Given the description of an element on the screen output the (x, y) to click on. 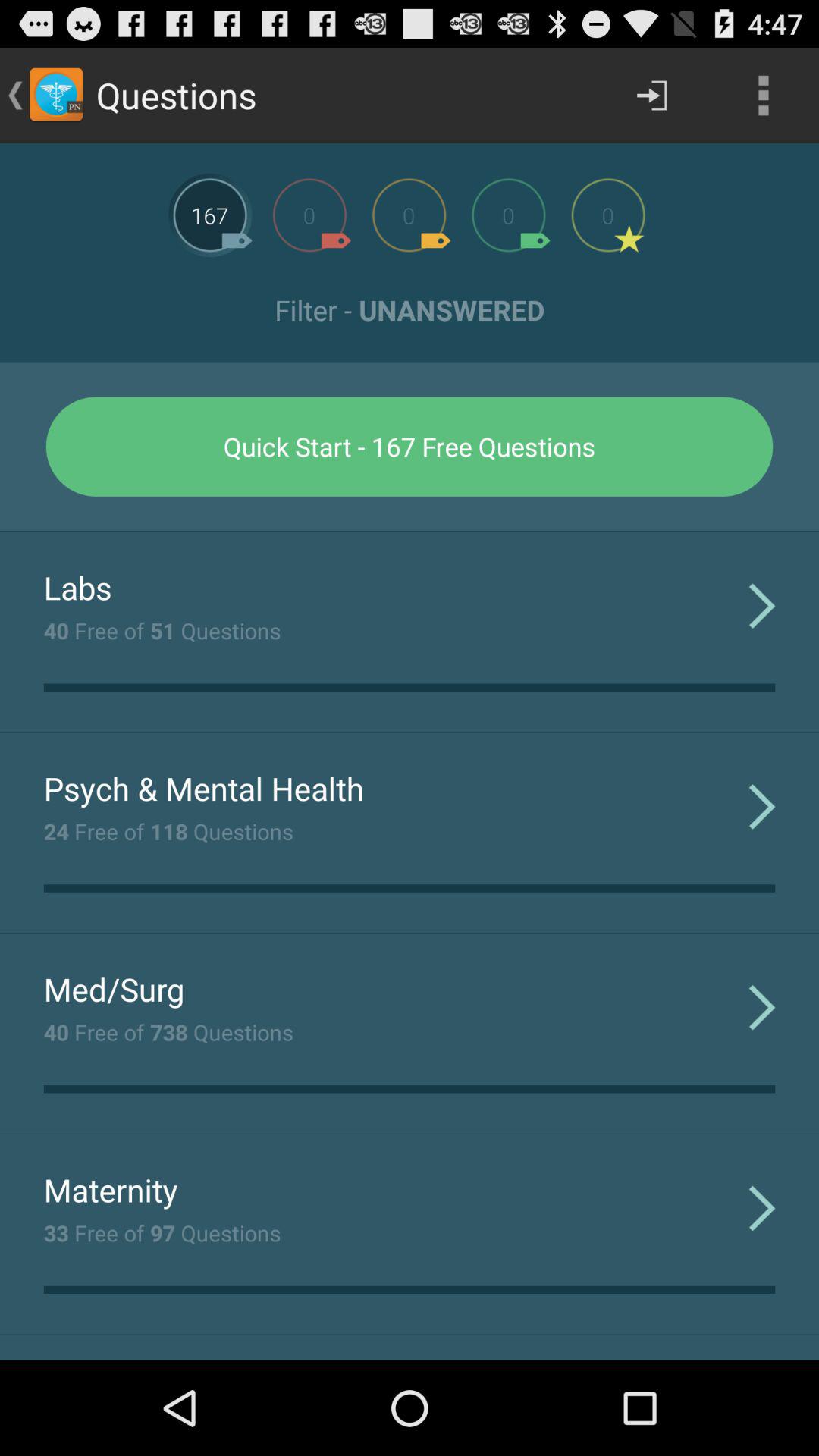
select quick start 167 icon (409, 446)
